Given the description of an element on the screen output the (x, y) to click on. 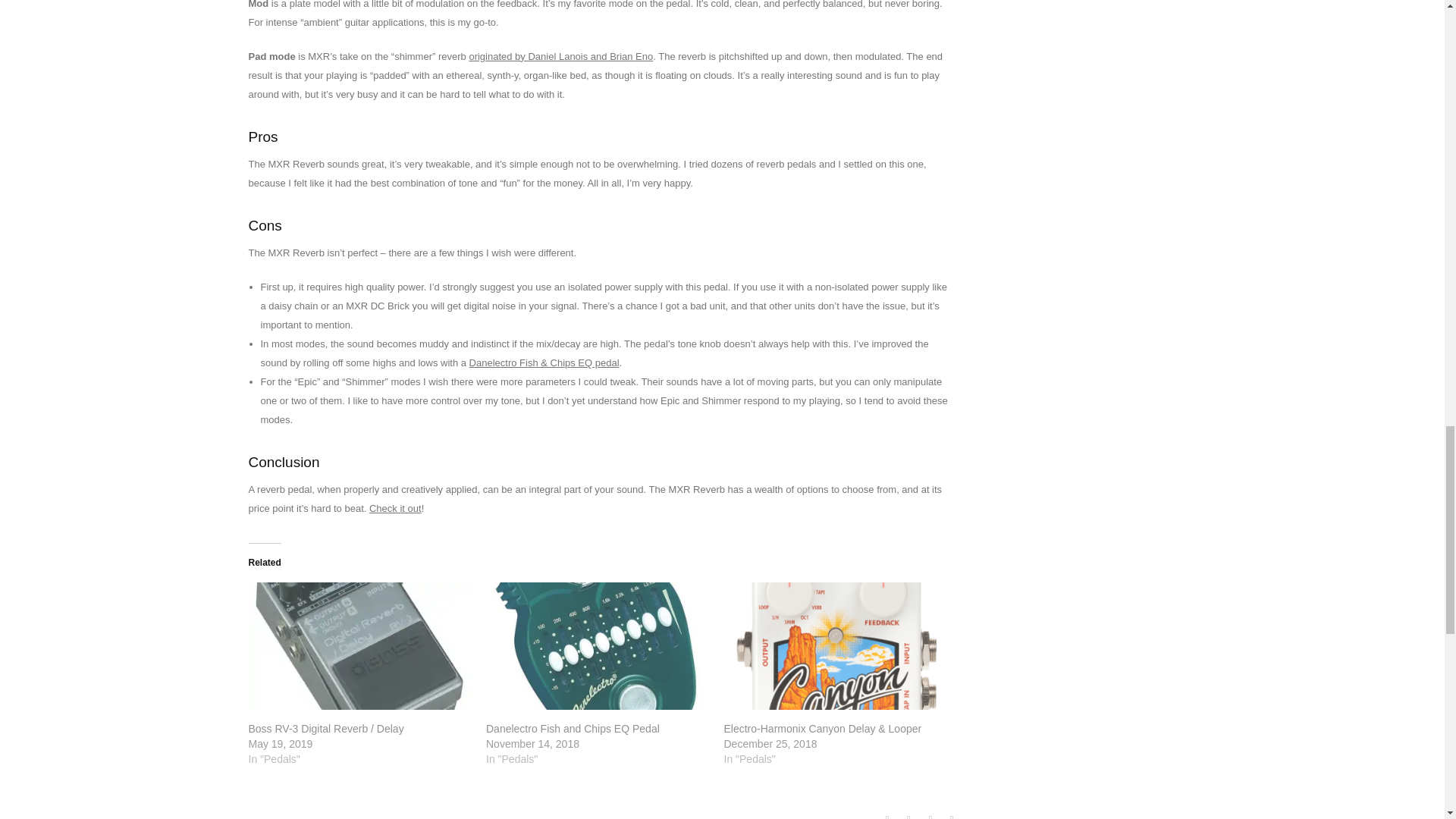
originated by Daniel Lanois and Brian Eno (560, 56)
Danelectro Fish and Chips EQ Pedal (597, 646)
Danelectro Fish and Chips EQ Pedal (572, 728)
Danelectro Fish and Chips EQ Pedal (572, 728)
Check it out (395, 508)
